Given the description of an element on the screen output the (x, y) to click on. 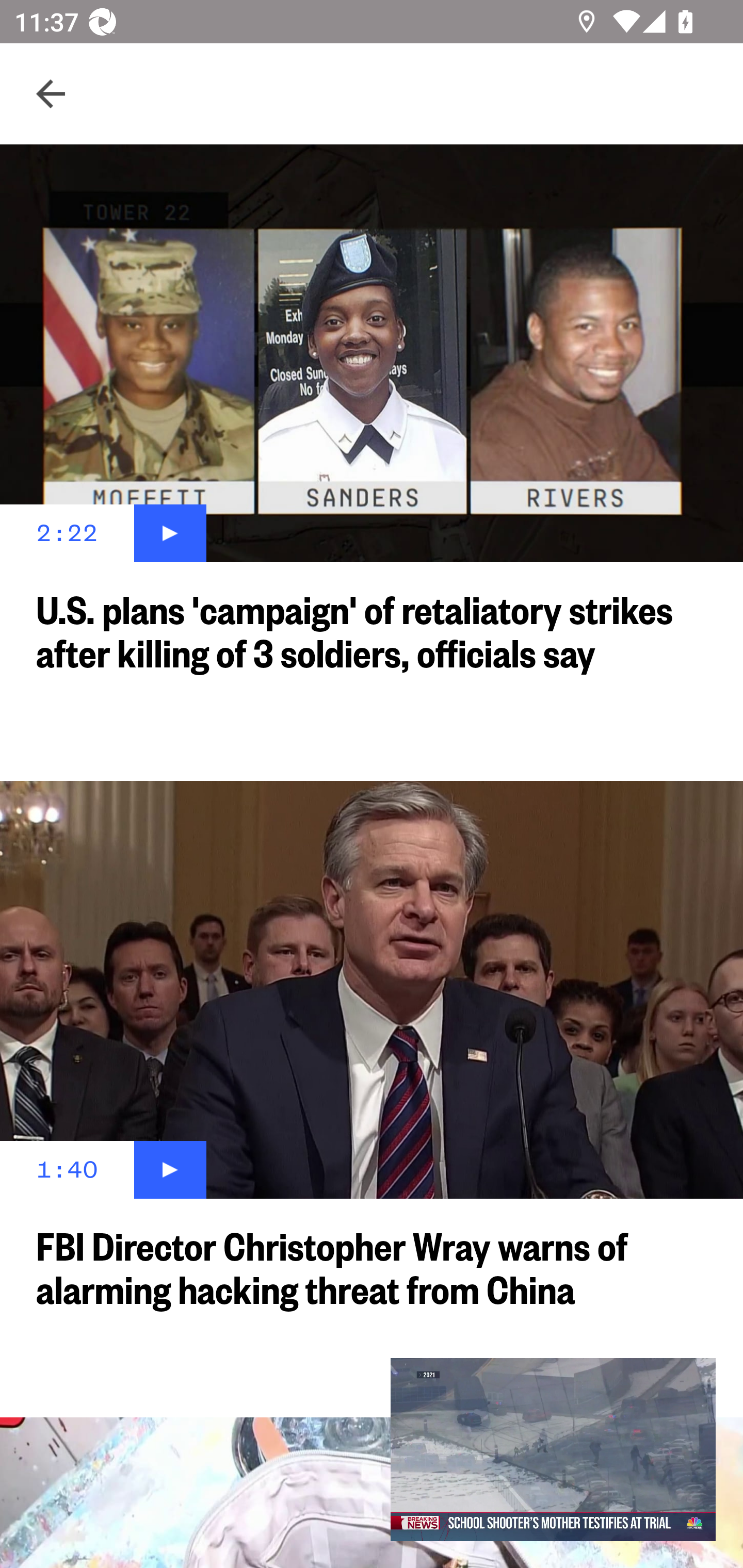
Navigate up (50, 93)
